Given the description of an element on the screen output the (x, y) to click on. 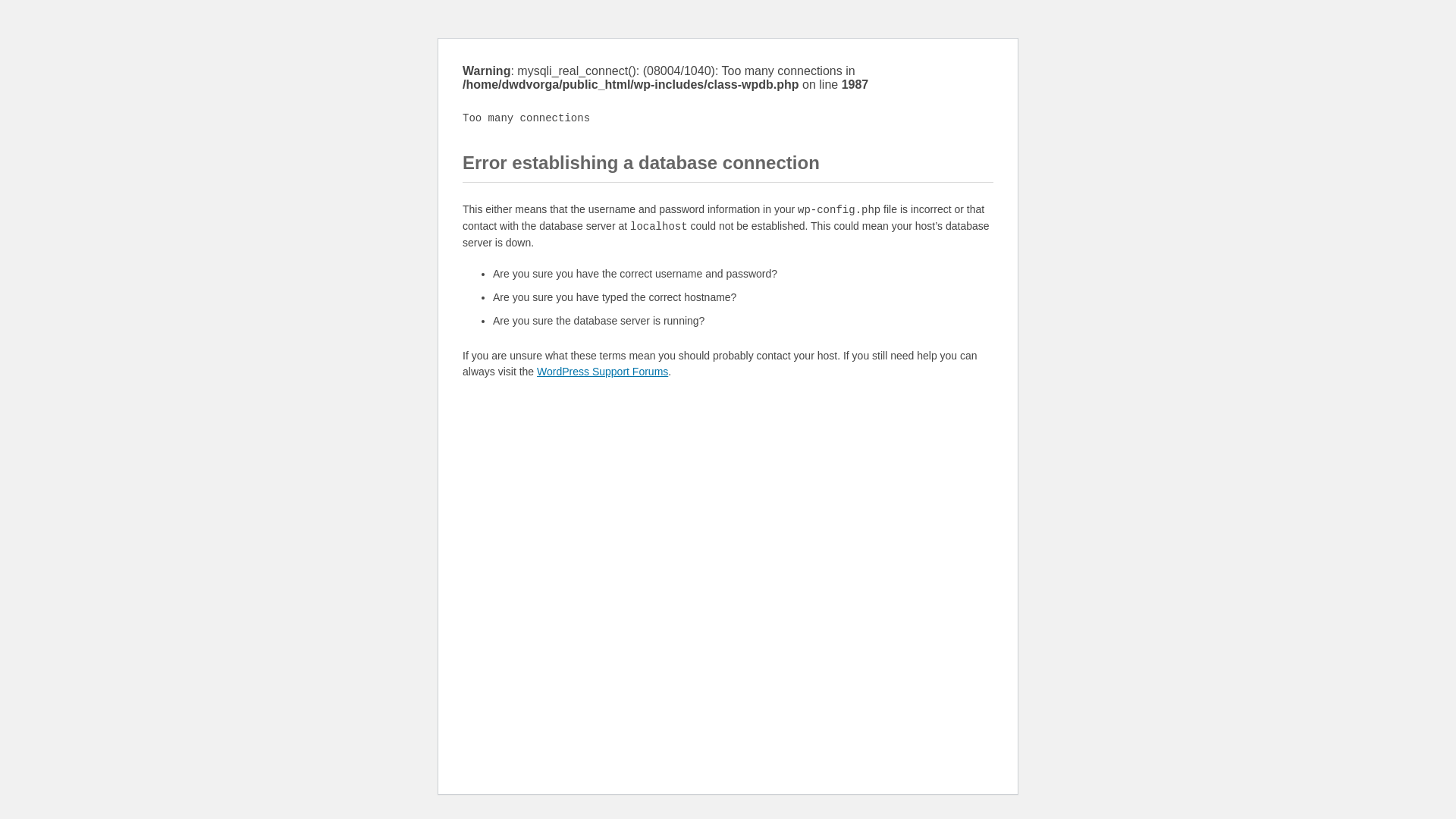
WordPress Support Forums Element type: text (602, 371)
